Given the description of an element on the screen output the (x, y) to click on. 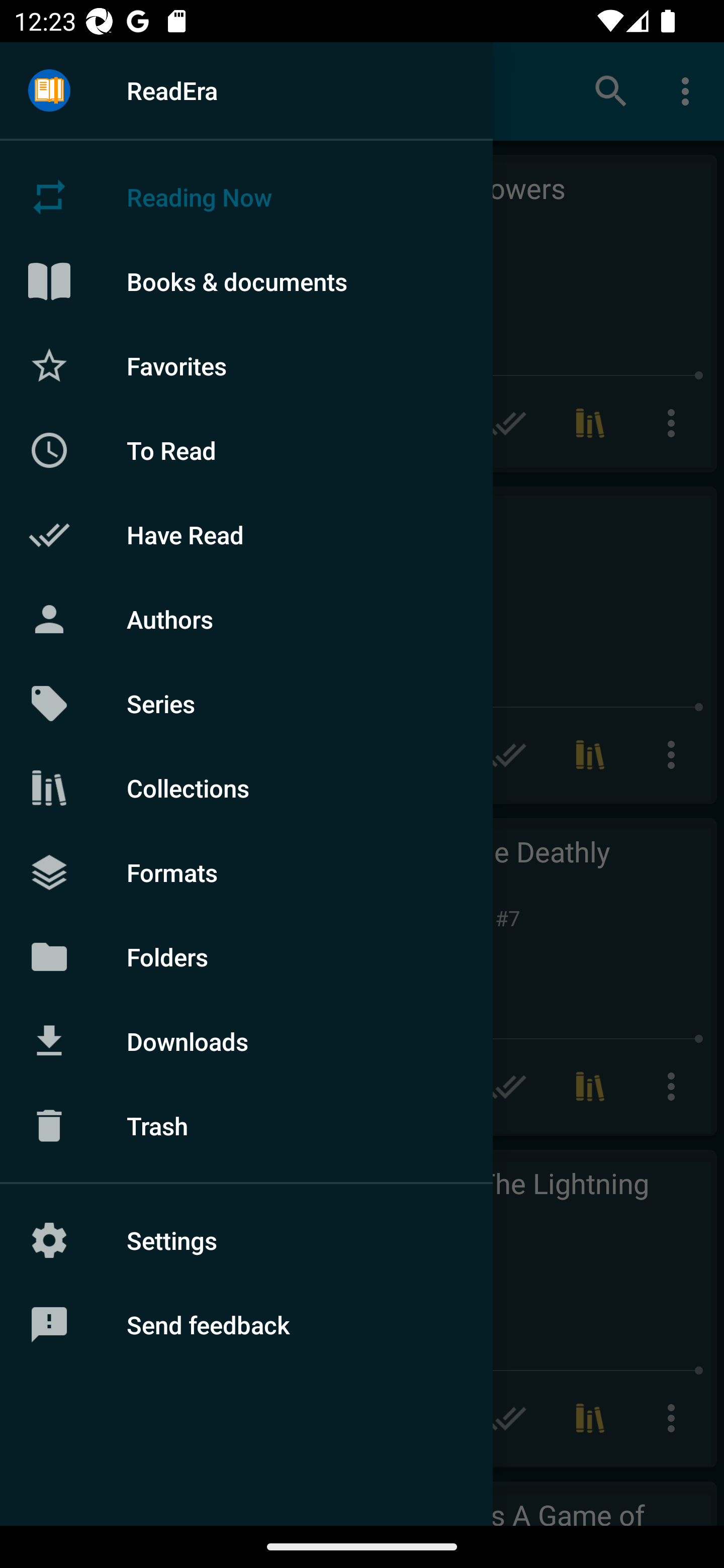
Menu (49, 91)
ReadEra (246, 89)
Search books & documents (611, 90)
More options (688, 90)
Reading Now (246, 197)
Books & documents (246, 281)
Favorites (246, 365)
To Read (246, 449)
Have Read (246, 534)
Authors (246, 619)
Series (246, 703)
Collections (246, 787)
Formats (246, 871)
Folders (246, 956)
Downloads (246, 1040)
Trash (246, 1125)
Settings (246, 1239)
Send feedback (246, 1324)
